Given the description of an element on the screen output the (x, y) to click on. 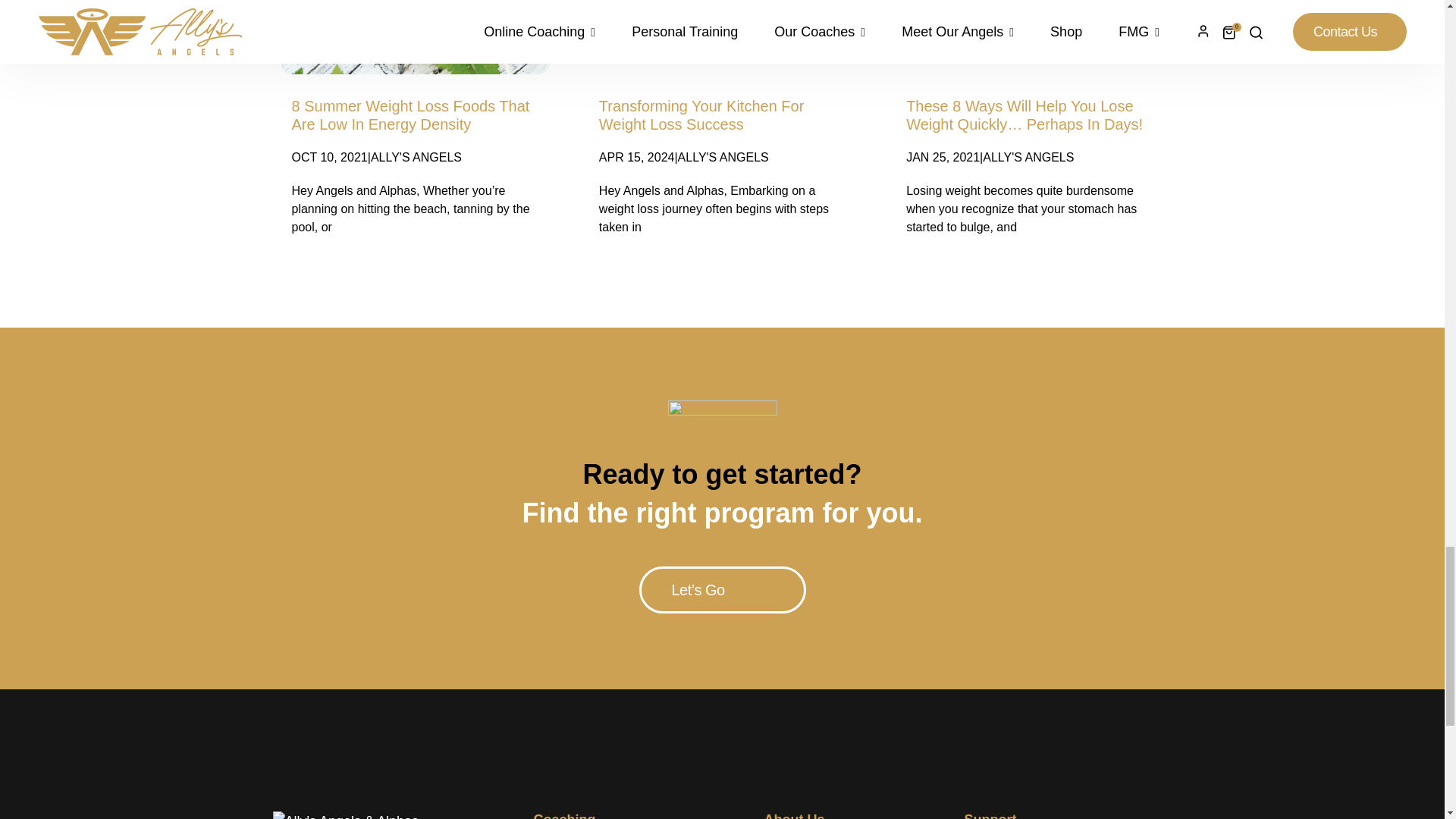
8 Summer Weight Loss Foods That Are Low in Energy Density (410, 114)
Transforming Your Kitchen for Weight Loss Success (701, 114)
